Given the description of an element on the screen output the (x, y) to click on. 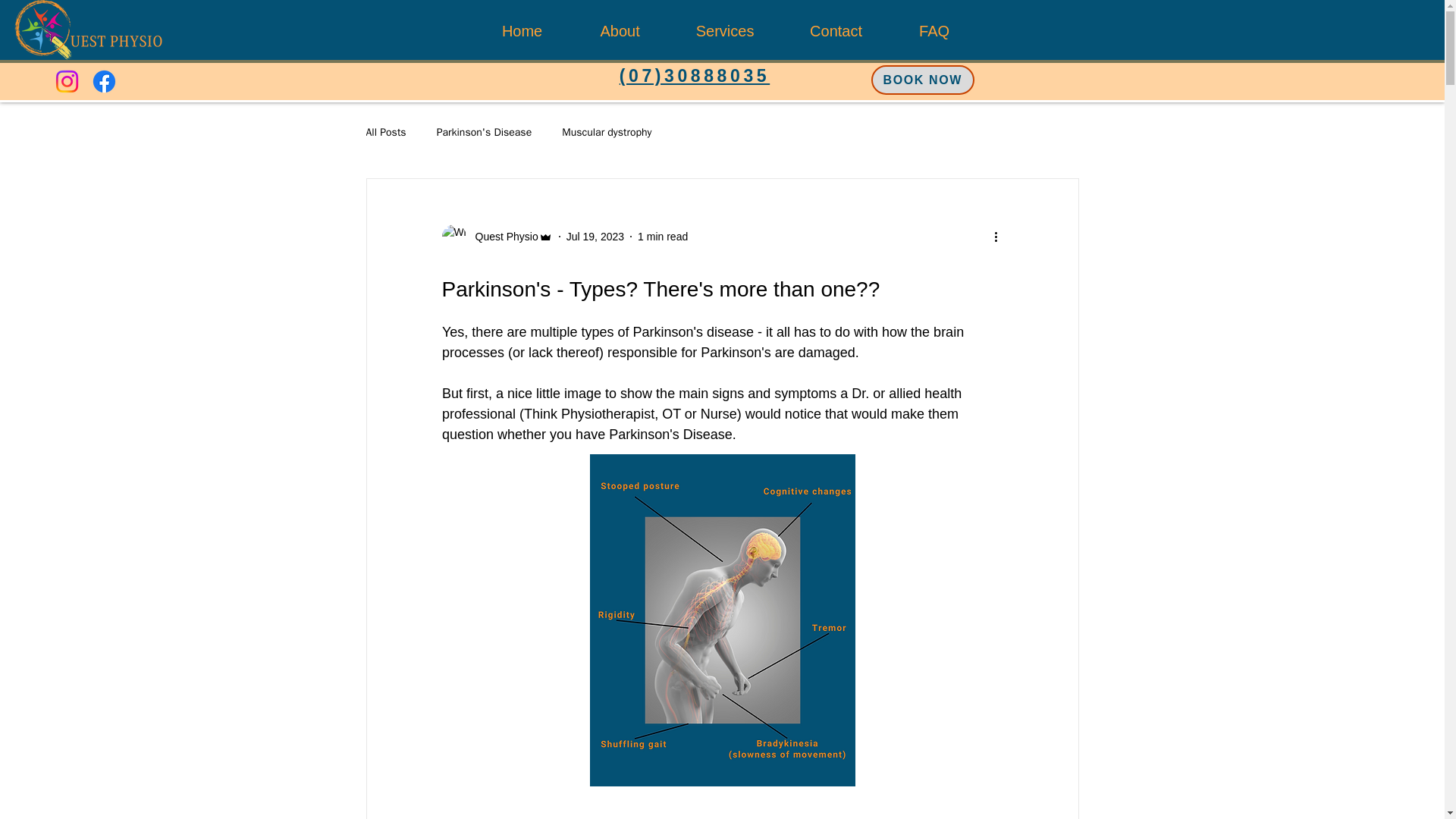
BOOK NOW (922, 80)
Muscular dystrophy (606, 132)
Quest Physio (496, 236)
Jul 19, 2023 (595, 236)
Contact (835, 30)
About (619, 30)
All Posts (385, 132)
1 min read (662, 236)
Home (522, 30)
FAQ (933, 30)
Parkinson's Disease (484, 132)
Quest Physio (501, 236)
